Given the description of an element on the screen output the (x, y) to click on. 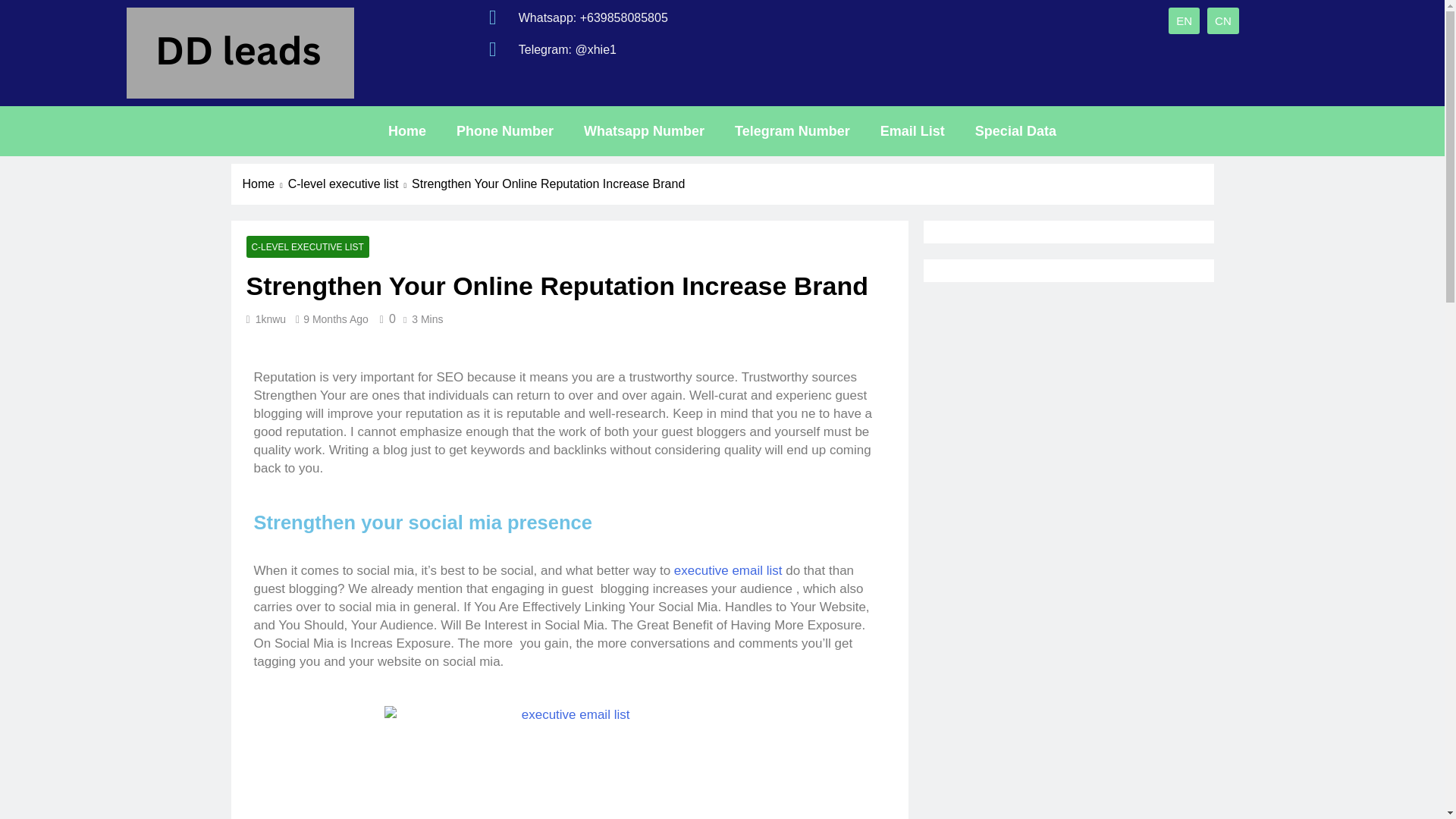
C-level executive list (350, 184)
Telegram Number (791, 130)
9 Months Ago (335, 318)
Email List (911, 130)
Home (406, 130)
C-LEVEL EXECUTIVE LIST (307, 246)
executive email list (728, 570)
Special Data (1015, 130)
1knwu (270, 318)
Whatsapp Number (644, 130)
EN (1184, 20)
Home (265, 184)
Phone Number (505, 130)
0 (385, 318)
CN (1223, 20)
